Given the description of an element on the screen output the (x, y) to click on. 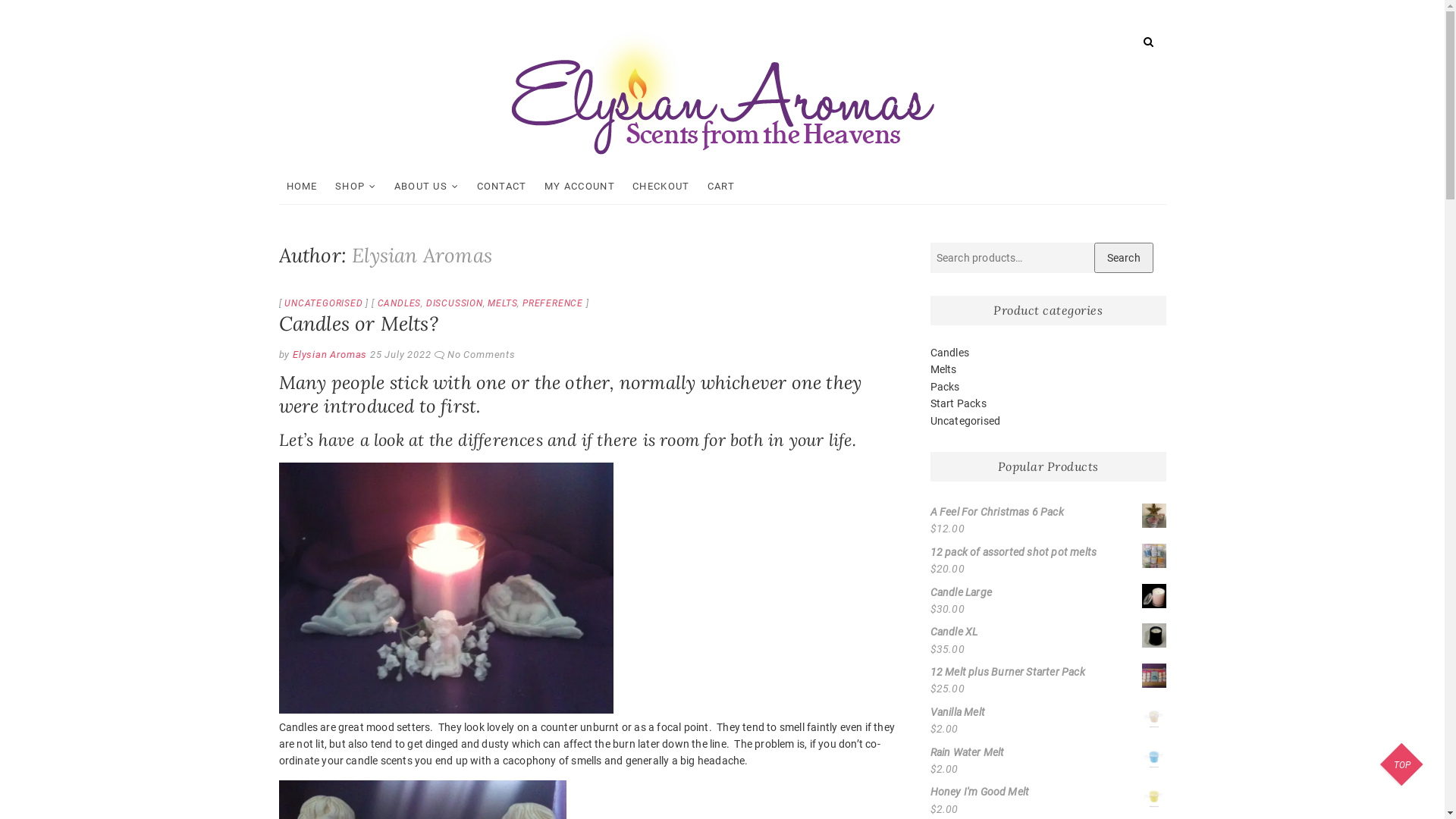
PREFERENCE Element type: text (552, 303)
MY ACCOUNT Element type: text (579, 186)
Search Element type: text (1122, 257)
Uncategorised Element type: text (964, 420)
A Feel For Christmas 6 Pack Element type: text (1047, 511)
No Comments Element type: text (481, 354)
CART Element type: text (720, 186)
Candle XL Element type: text (1047, 631)
Elysian Aromas Element type: text (618, 174)
12 pack of assorted shot pot melts Element type: text (1047, 551)
12 Melt plus Burner Starter Pack Element type: text (1047, 671)
TOP Element type: text (1402, 765)
CANDLES Element type: text (399, 303)
Vanilla Melt Element type: text (1047, 711)
Packs Element type: text (944, 386)
25 July 2022 Element type: text (400, 354)
MELTS Element type: text (502, 303)
UNCATEGORISED Element type: text (323, 303)
ABOUT US Element type: text (426, 186)
Melts Element type: text (942, 369)
Candles or Melts? Element type: text (358, 322)
SHOP Element type: text (355, 186)
Rain Water Melt Element type: text (1047, 751)
Honey I'm Good Melt Element type: text (1047, 791)
HOME Element type: text (302, 186)
Start Packs Element type: text (957, 403)
Candles Element type: text (948, 352)
DISCUSSION Element type: text (454, 303)
Candle Large Element type: text (1047, 591)
CHECKOUT Element type: text (660, 186)
CONTACT Element type: text (501, 186)
Elysian Aromas Element type: text (328, 354)
